Given the description of an element on the screen output the (x, y) to click on. 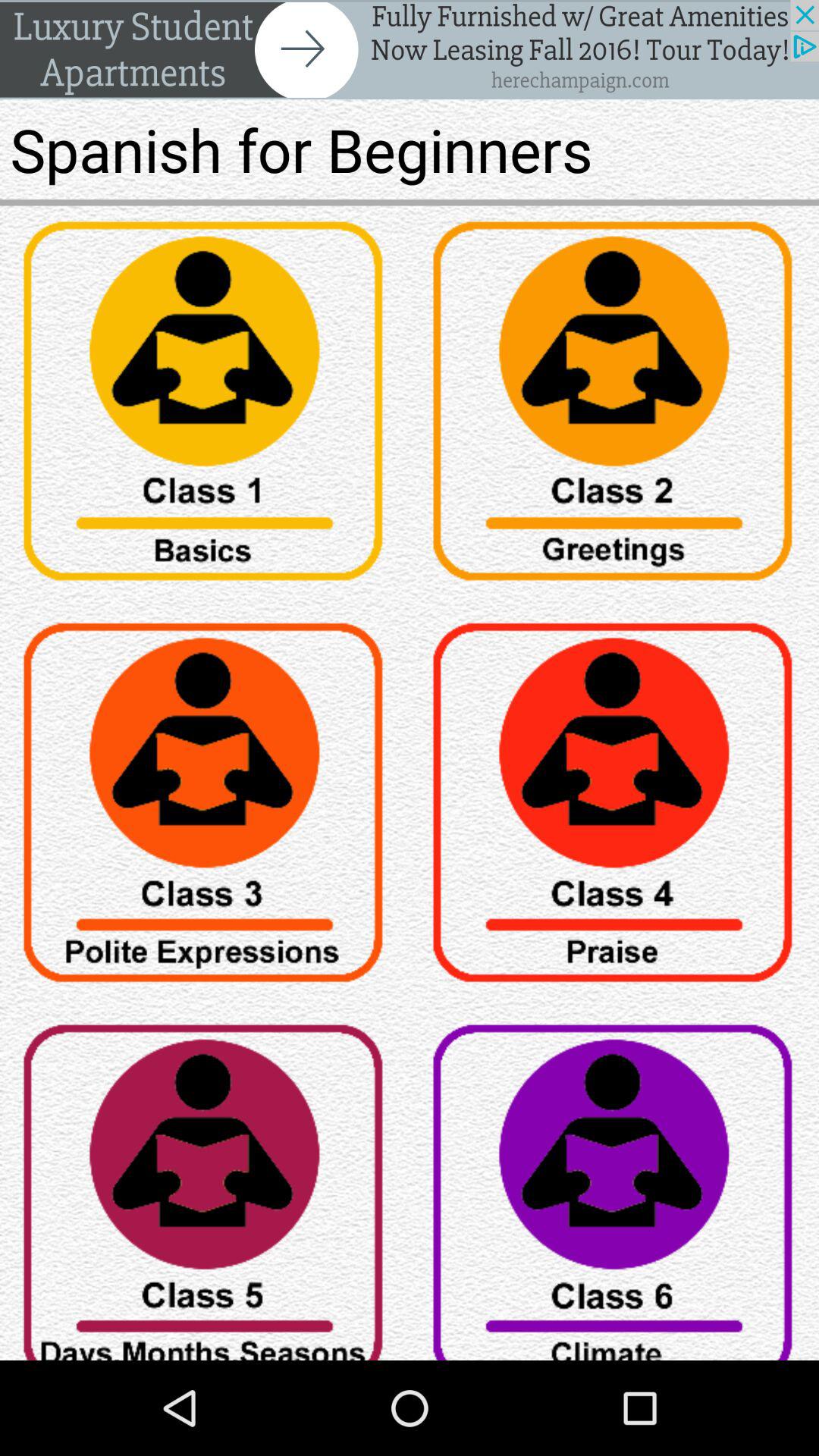
advertisement link (409, 49)
